Given the description of an element on the screen output the (x, y) to click on. 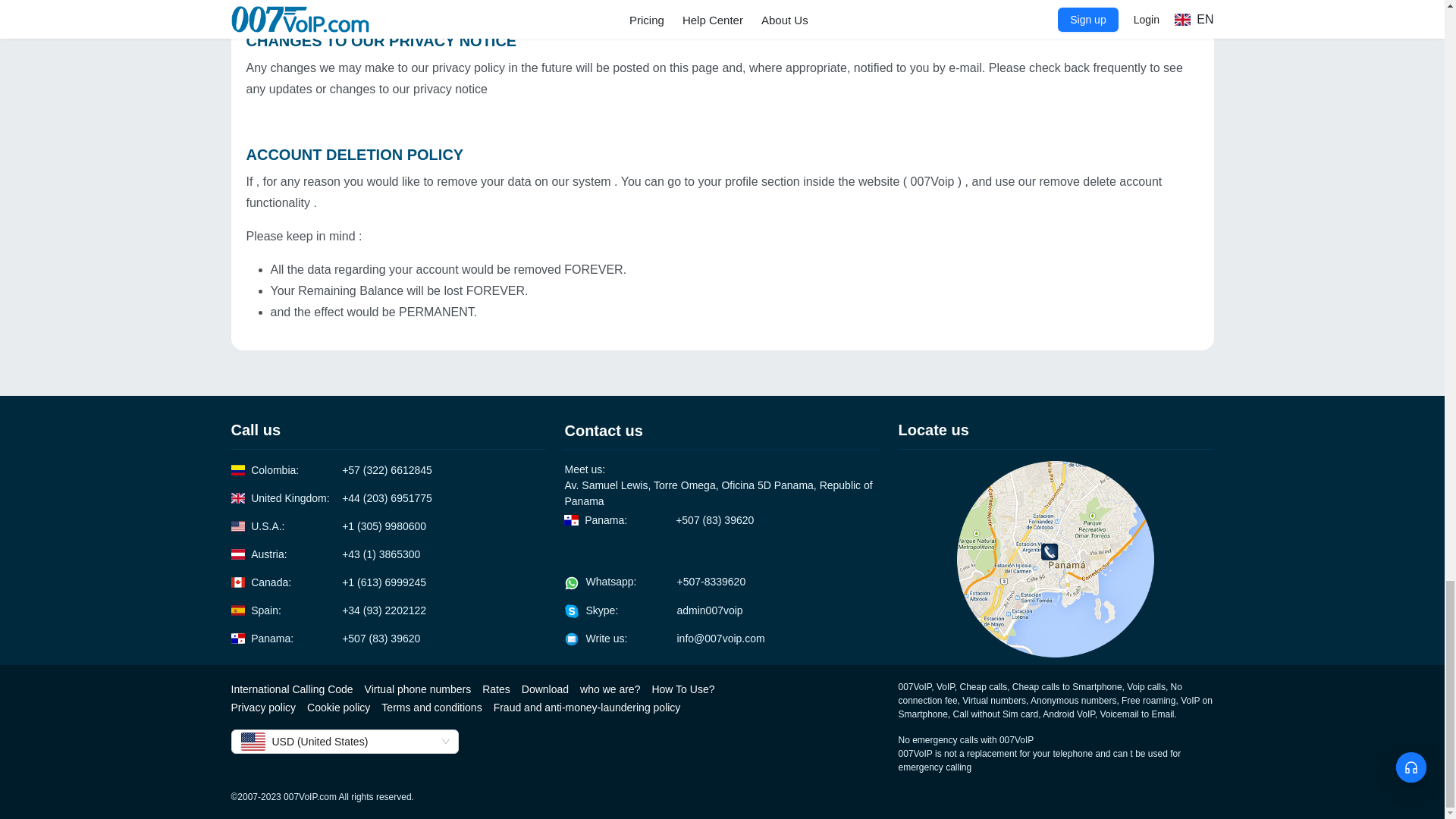
Cookie policy (338, 707)
Rates (496, 689)
Skype:admin007voip (653, 610)
Download (545, 689)
International Calling Code (291, 689)
Privacy policy (262, 707)
Virtual phone numbers (418, 689)
How To Use? (682, 689)
who we are? (609, 689)
